Given the description of an element on the screen output the (x, y) to click on. 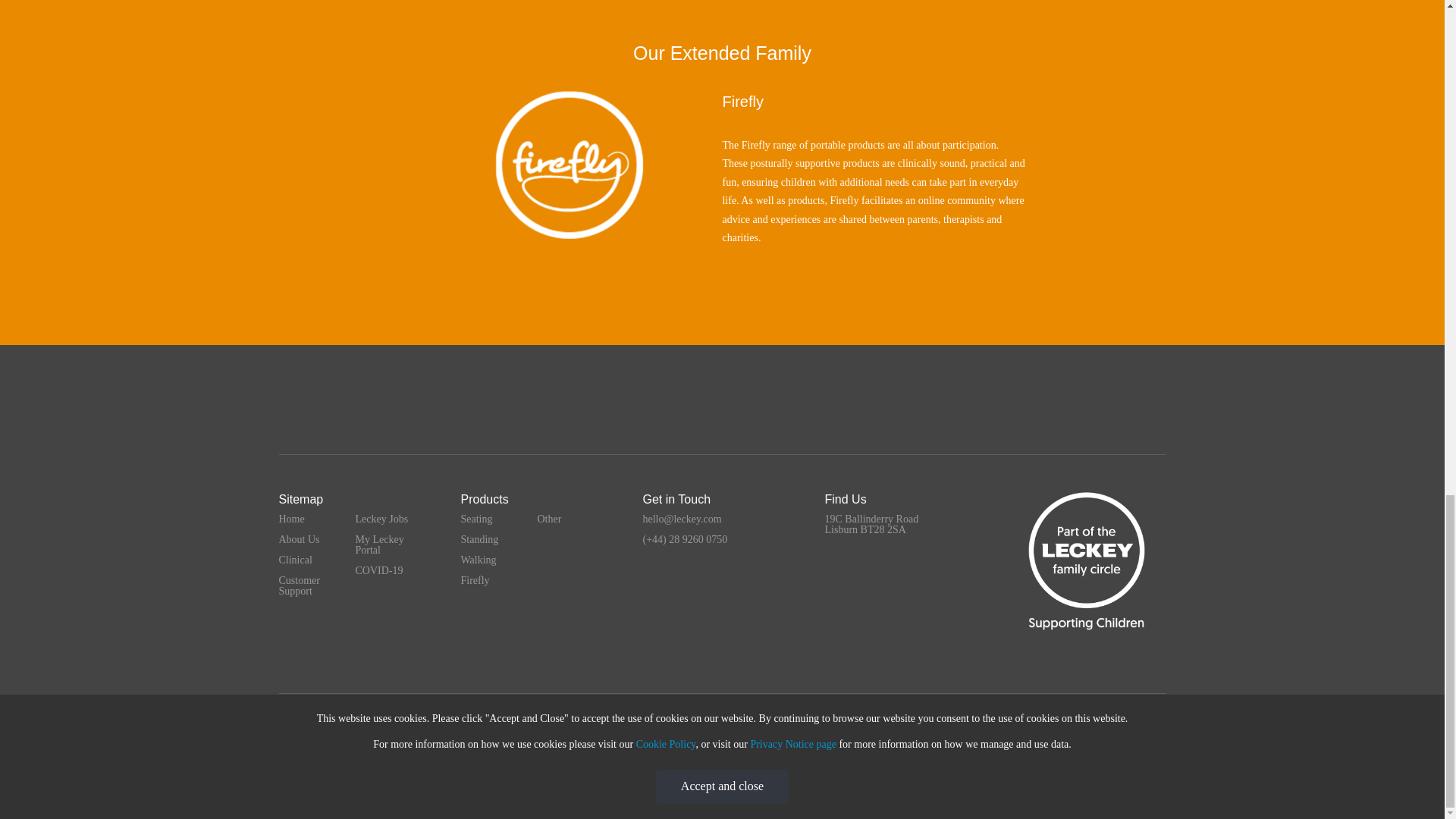
FireflyBottomBanner.png (570, 163)
FireflyBottomBanner.png (570, 164)
